Given the description of an element on the screen output the (x, y) to click on. 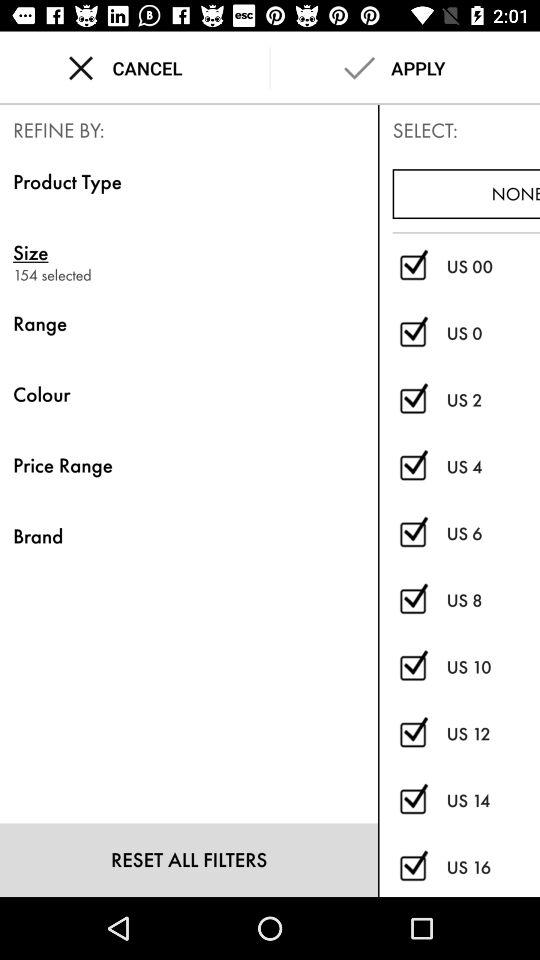
filter size 0 (412, 333)
